Given the description of an element on the screen output the (x, y) to click on. 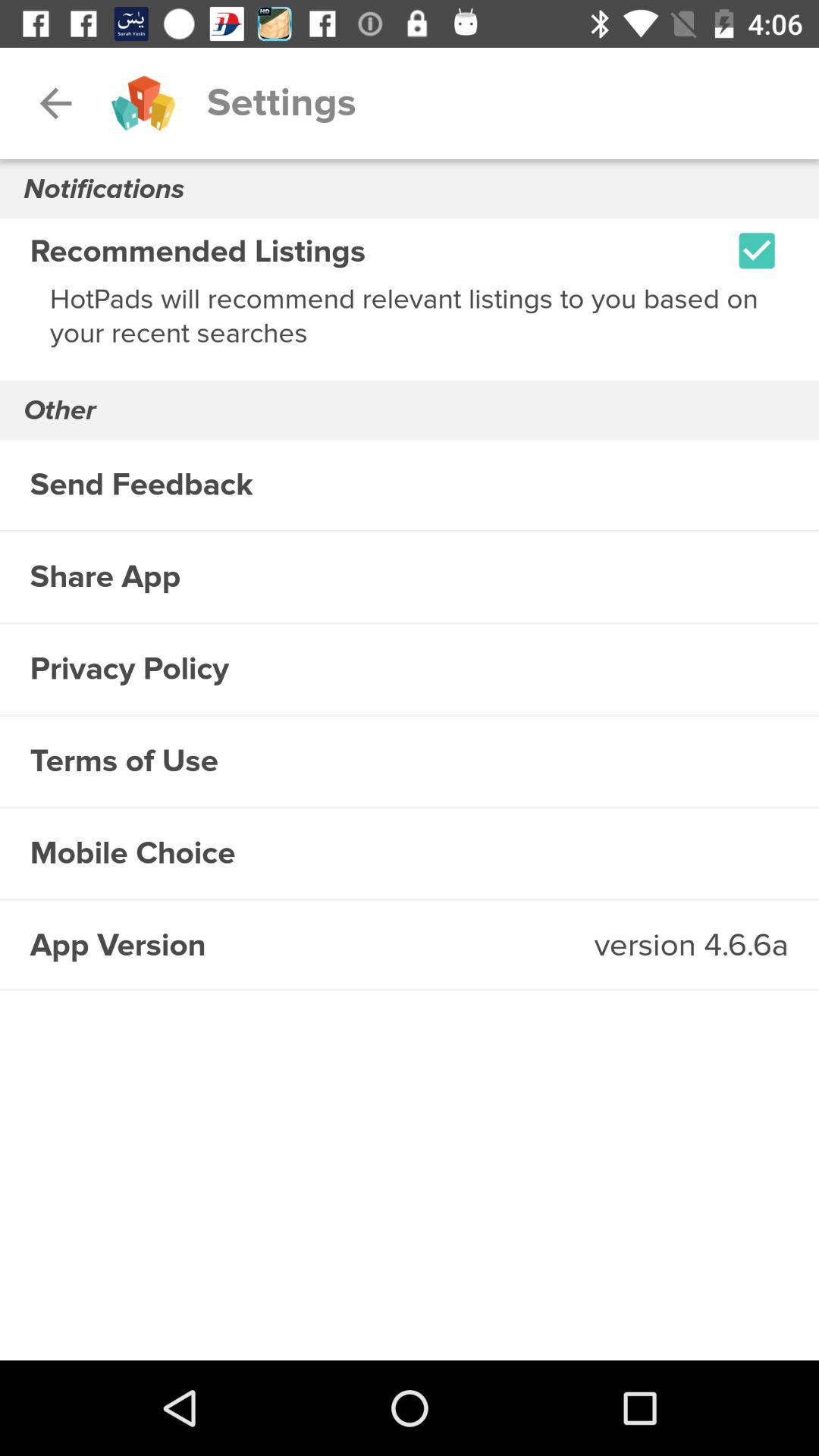
swipe until share app  item (409, 577)
